Given the description of an element on the screen output the (x, y) to click on. 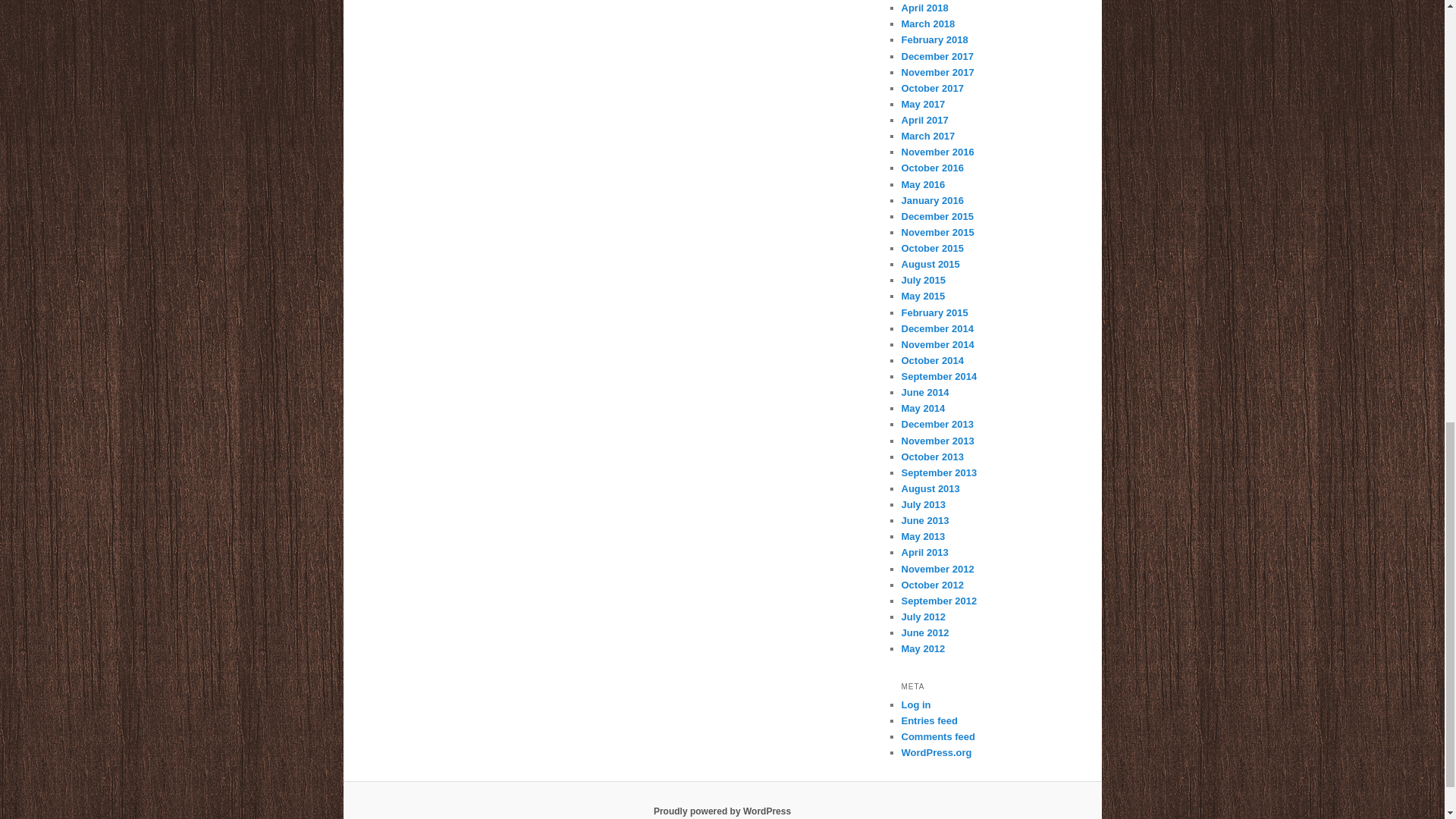
Semantic Personal Publishing Platform (721, 810)
